Given the description of an element on the screen output the (x, y) to click on. 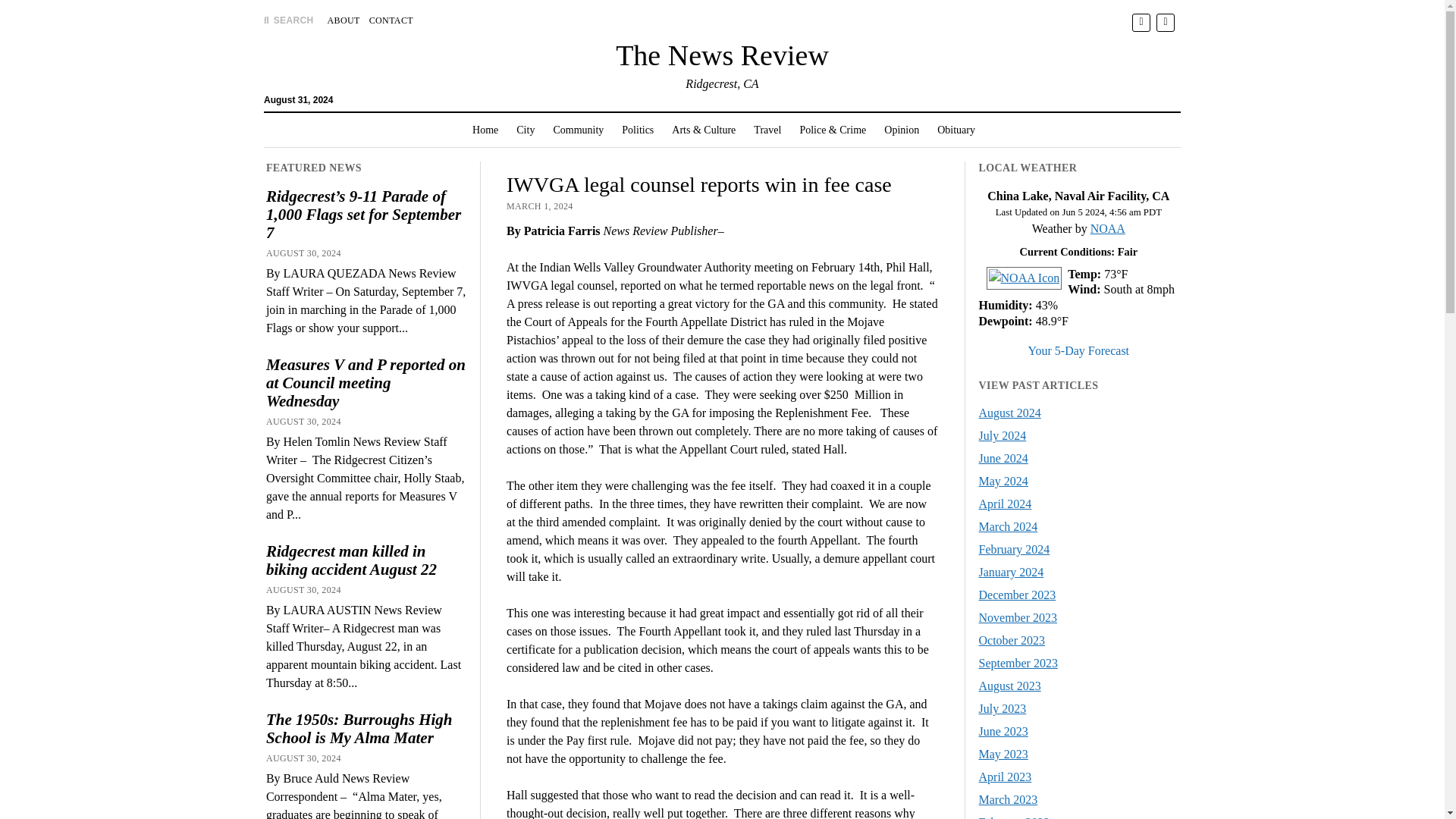
NOAA (1107, 228)
Click for your 5-day forecast. (1020, 277)
Community (577, 130)
NOAA's National Weather Service (1107, 228)
Measures V and P reported on at Council meeting Wednesday (365, 382)
Travel (767, 130)
Home (484, 130)
SEARCH (288, 20)
Ridgecrest man killed in biking accident August 22 (365, 560)
Obituary (956, 130)
